Given the description of an element on the screen output the (x, y) to click on. 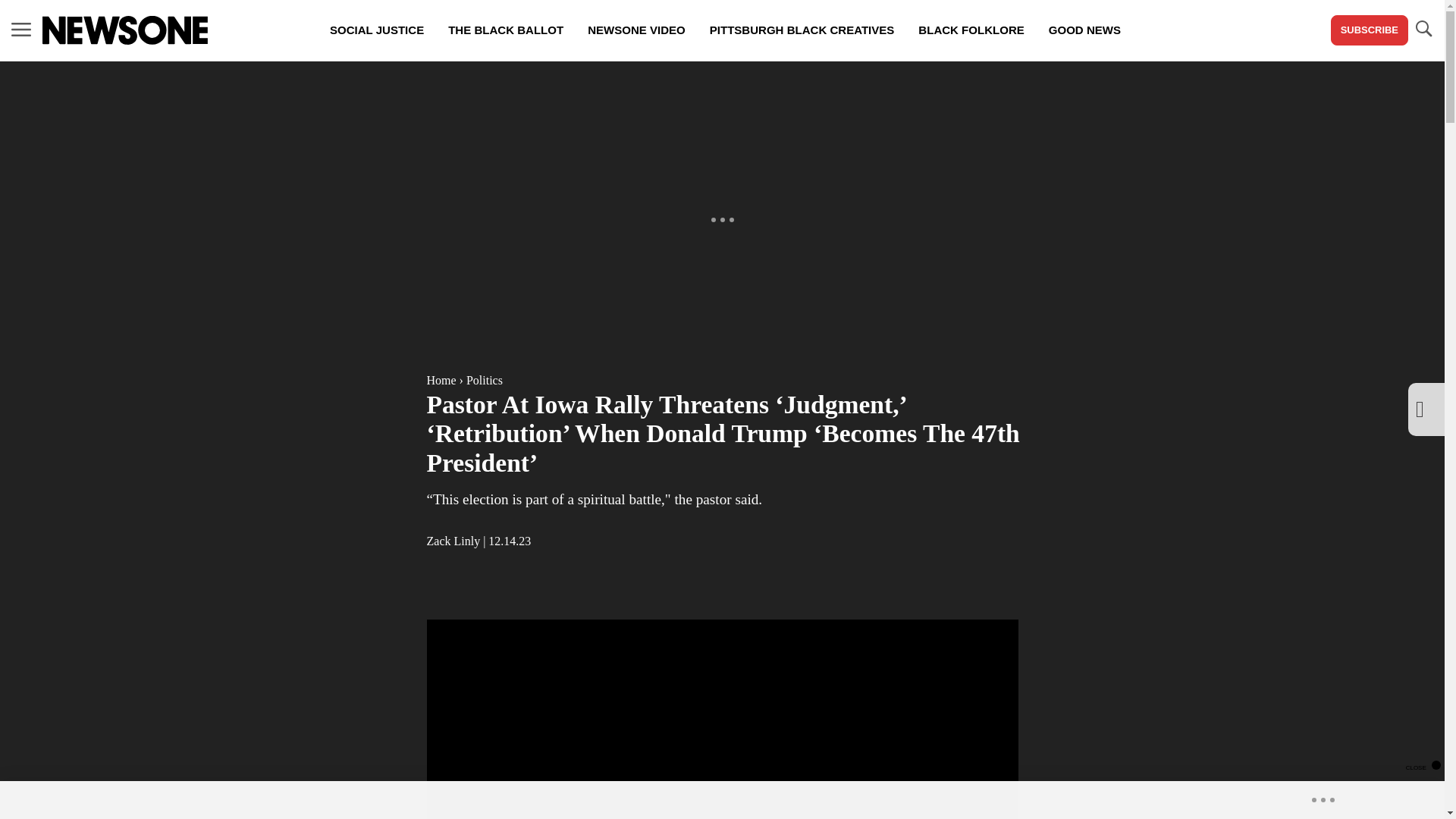
MENU (20, 29)
Home (440, 379)
MENU (20, 30)
Zack Linly (453, 540)
TOGGLE SEARCH (1422, 30)
NEWSONE VIDEO (636, 30)
SOCIAL JUSTICE (376, 30)
THE BLACK BALLOT (505, 30)
GOOD NEWS (1084, 30)
TOGGLE SEARCH (1422, 28)
